Given the description of an element on the screen output the (x, y) to click on. 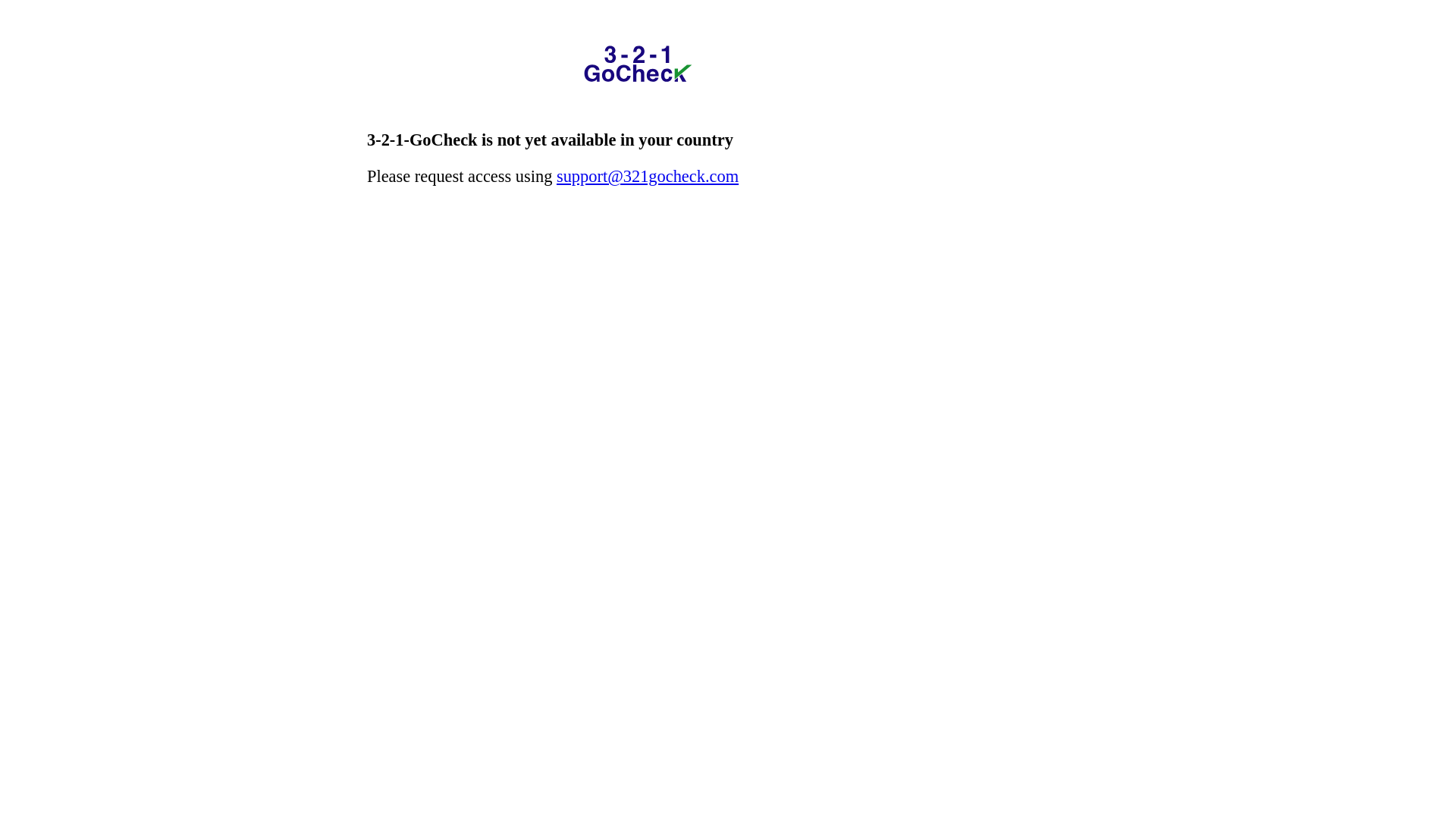
support@321gocheck.com Element type: text (647, 175)
